Given the description of an element on the screen output the (x, y) to click on. 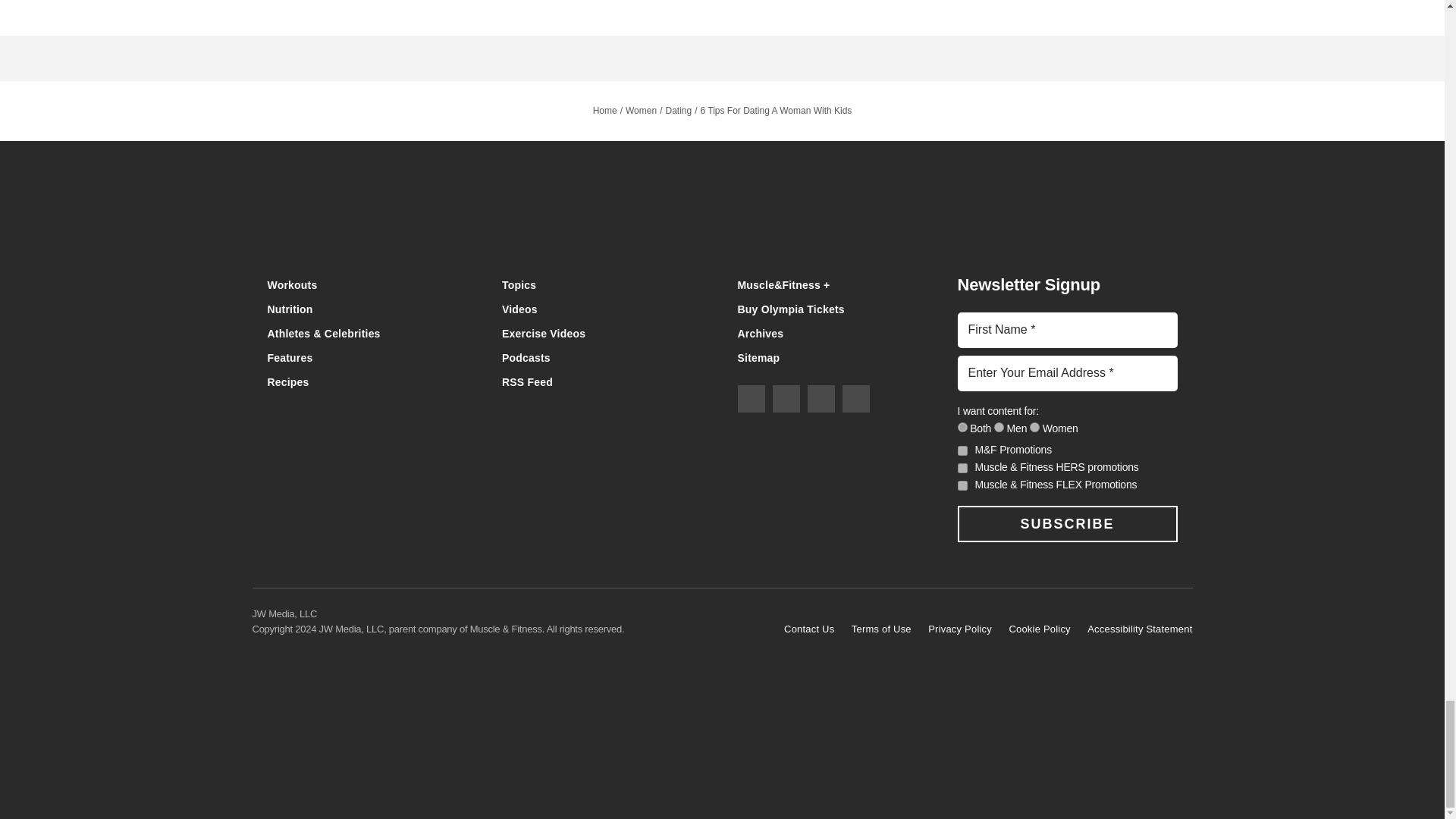
Home (721, 225)
713 (999, 427)
Muscle and Fitness on Facebook (750, 398)
715 (1034, 427)
711 (961, 427)
